Given the description of an element on the screen output the (x, y) to click on. 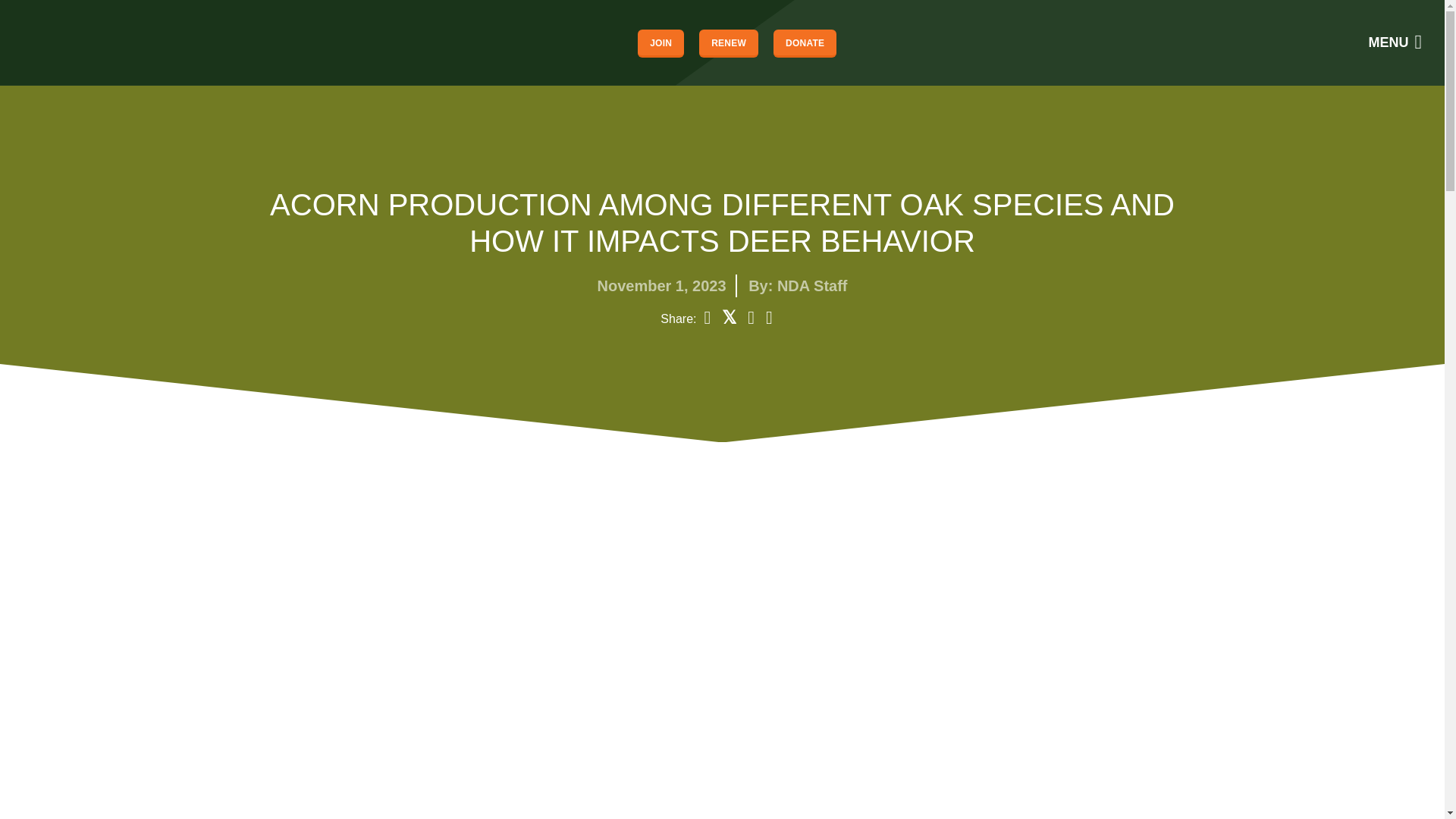
JOIN (660, 43)
DONATE (804, 43)
NDA Logo White (63, 42)
RENEW (728, 43)
